Given the description of an element on the screen output the (x, y) to click on. 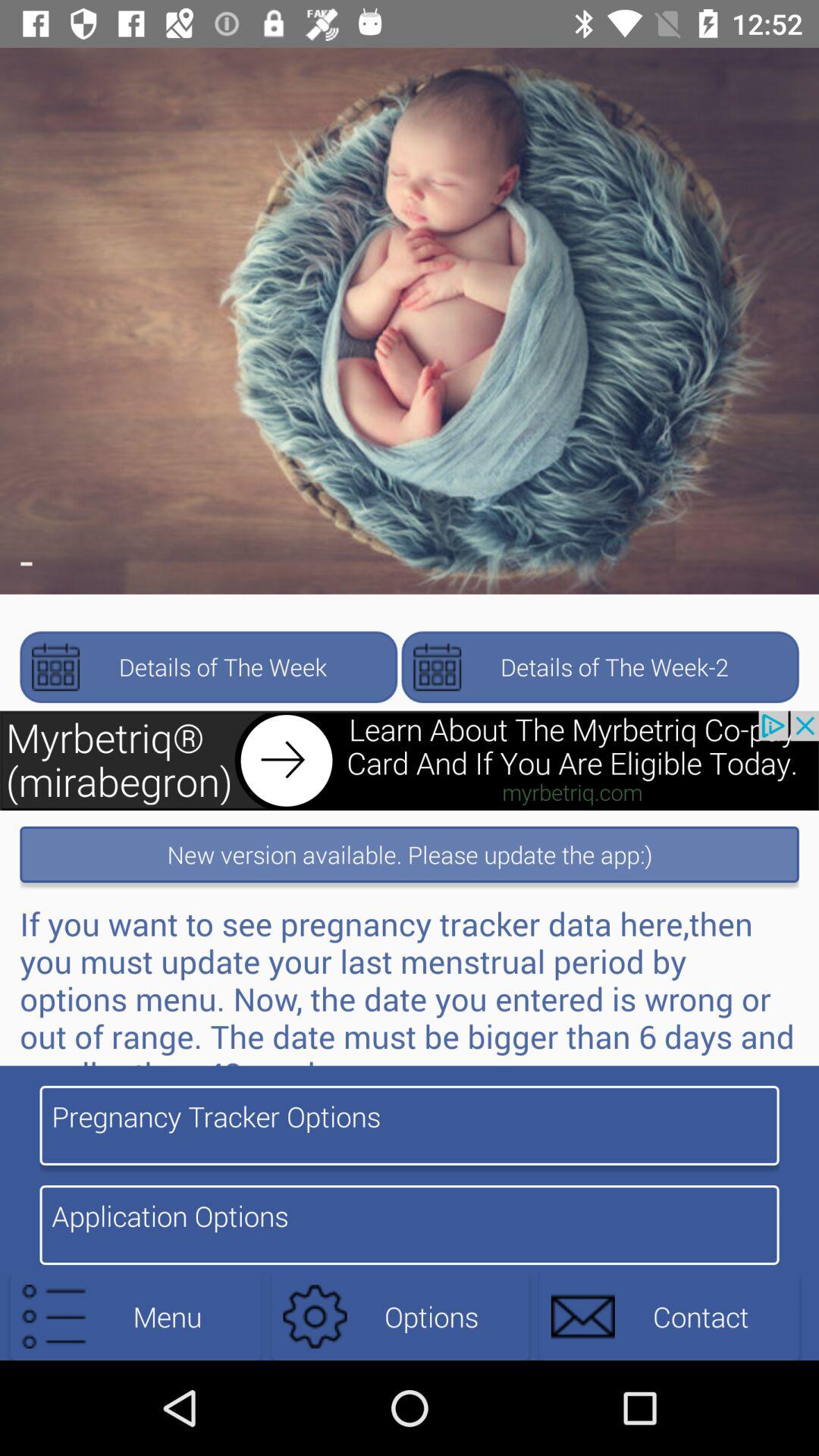
click on menu and its icon (135, 1315)
select details of the week and its icon (208, 667)
